Given the description of an element on the screen output the (x, y) to click on. 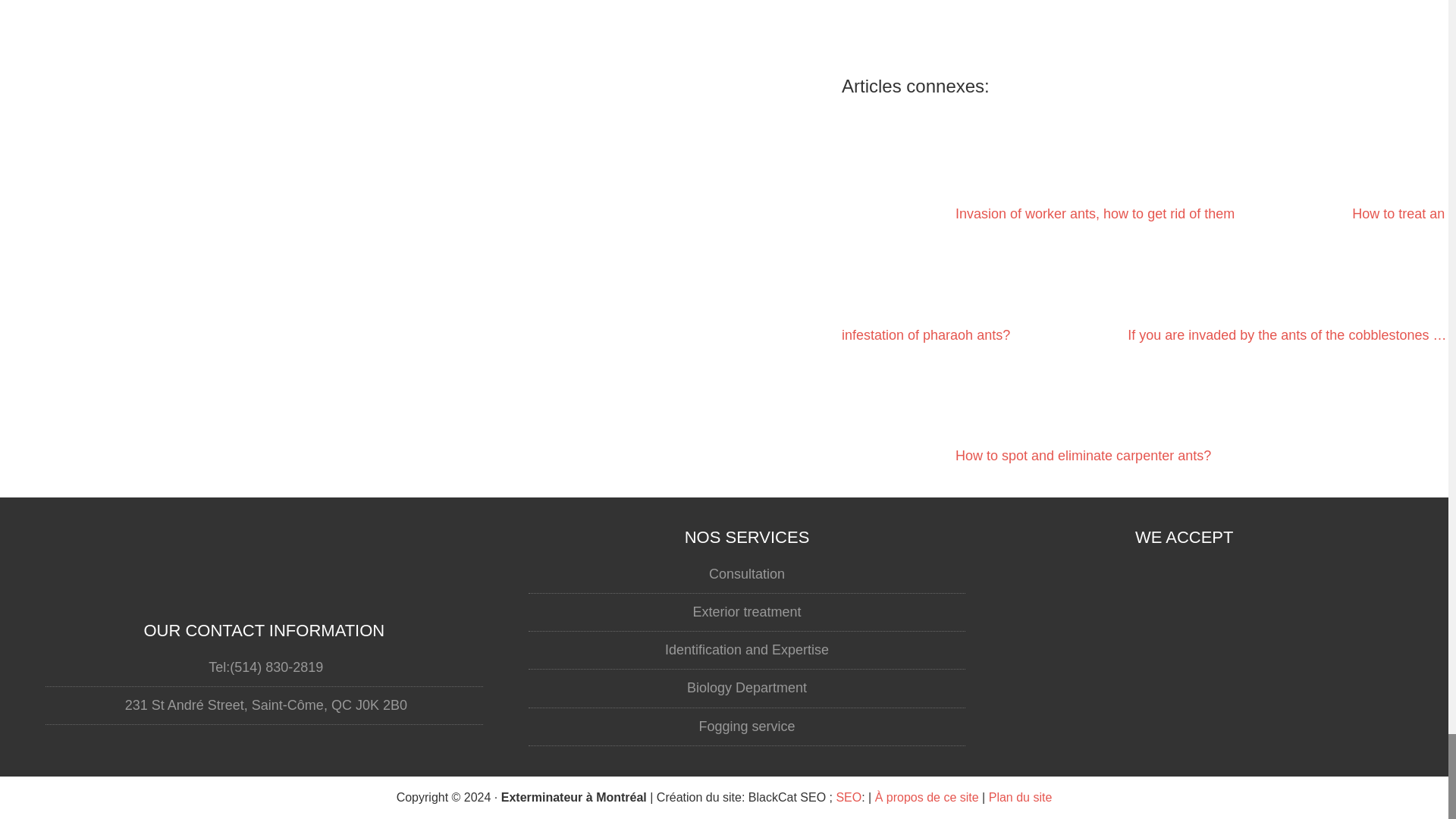
interac (1184, 719)
How to treat an infestation of pharaoh ants? (1142, 274)
mastercard (1185, 653)
Invasion of worker ants, how to get rid of them (1037, 213)
 Visa (1185, 586)
How to spot and eliminate carpenter ants? (1143, 515)
